Given the description of an element on the screen output the (x, y) to click on. 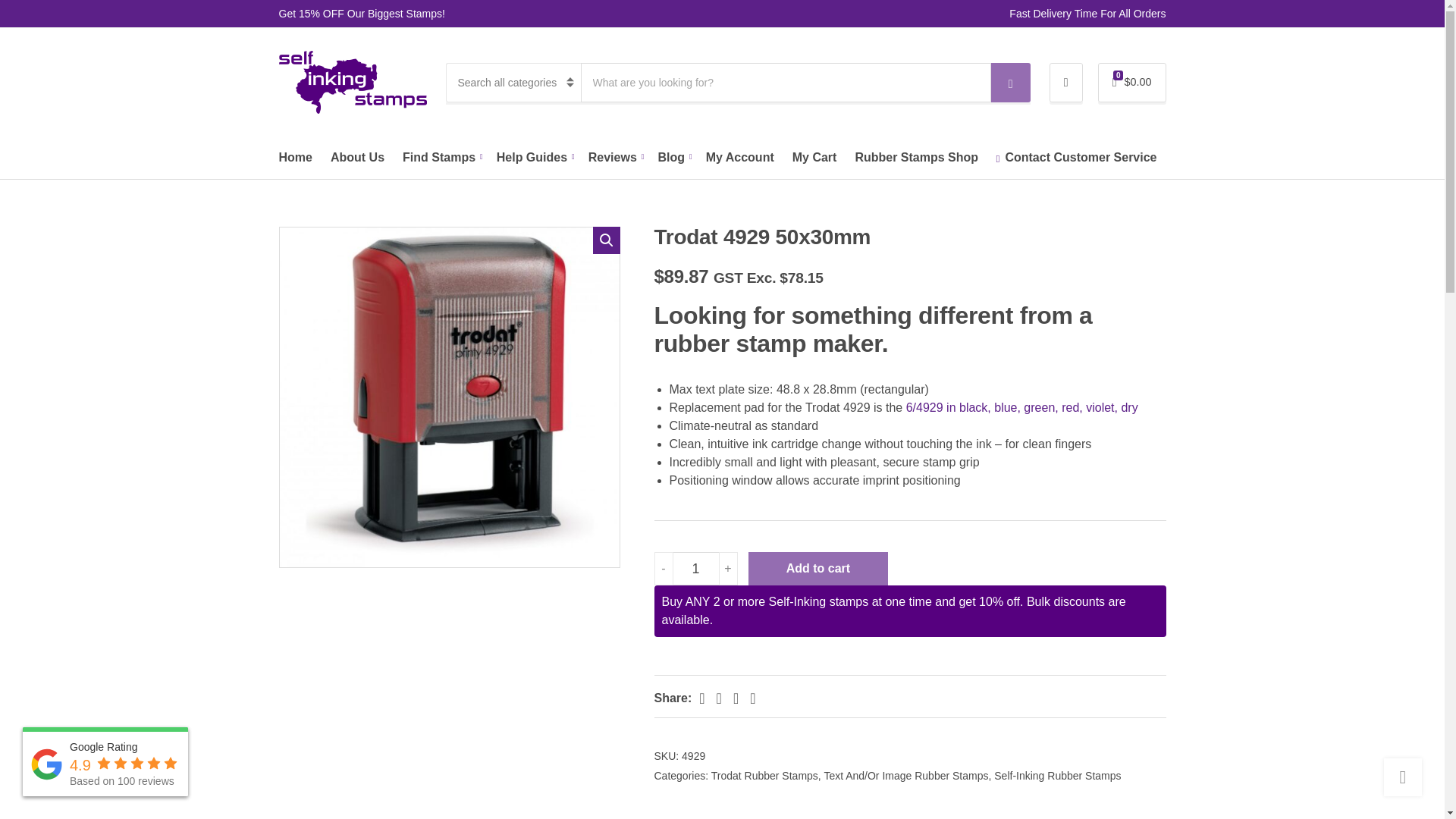
Help Guides (533, 157)
Trodat-4929-50X30Mm-2-1.Jpg (448, 397)
About Us (357, 157)
Find Stamps (441, 157)
1 (695, 568)
Search (1010, 82)
